Given the description of an element on the screen output the (x, y) to click on. 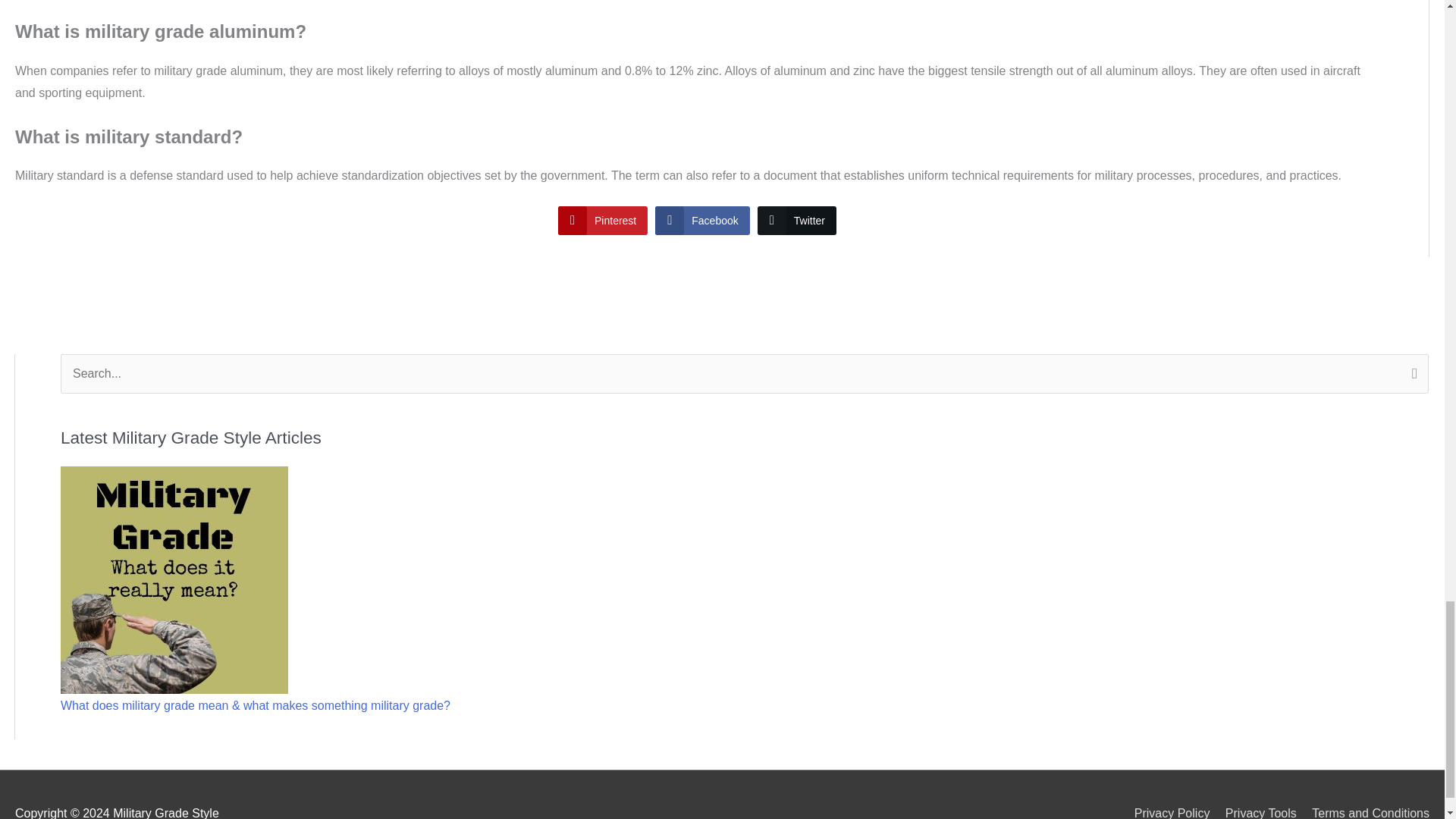
Terms and Conditions (1364, 812)
Pinterest (602, 220)
Facebook (702, 220)
Privacy Tools (1254, 812)
Twitter (796, 220)
Privacy Policy (1165, 812)
